Given the description of an element on the screen output the (x, y) to click on. 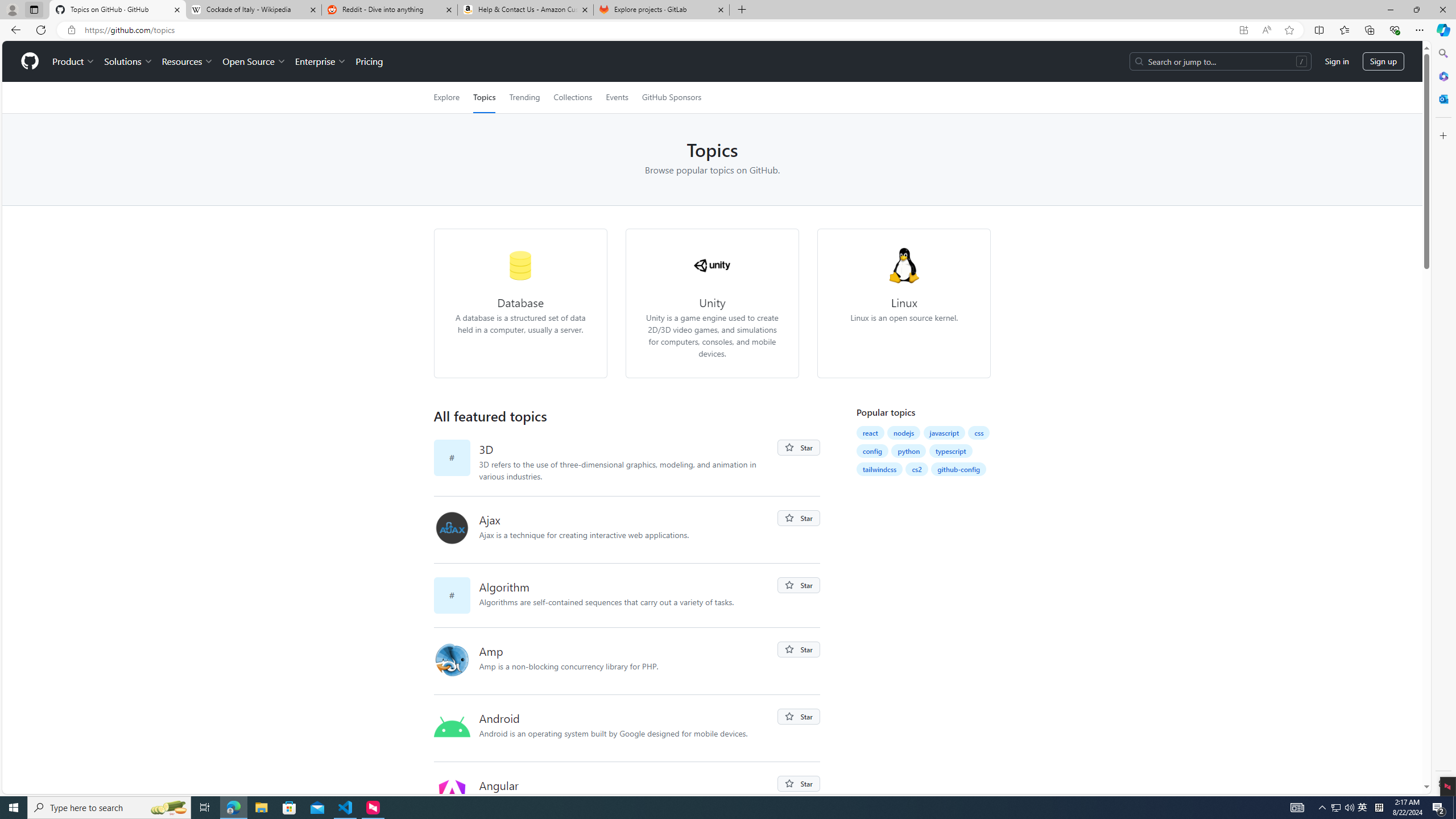
config (872, 450)
# (456, 595)
Open Source (254, 60)
Cockade of Italy - Wikipedia (253, 9)
react (869, 432)
Sign up (1382, 61)
react (870, 432)
config (872, 451)
